Given the description of an element on the screen output the (x, y) to click on. 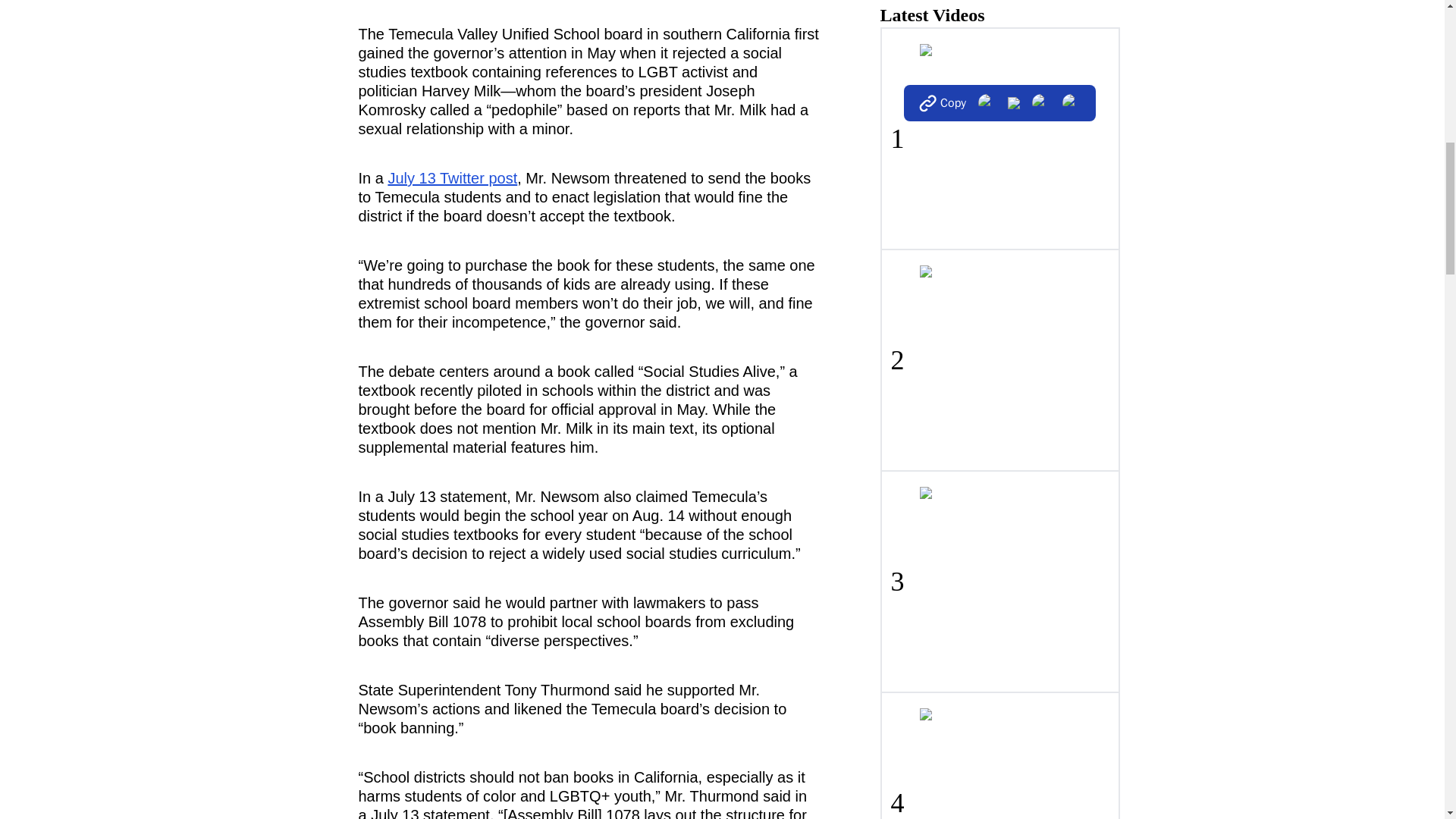
4 (999, 755)
1 (999, 138)
3 (999, 580)
July 13 Twitter post (451, 177)
2 (999, 359)
